Given the description of an element on the screen output the (x, y) to click on. 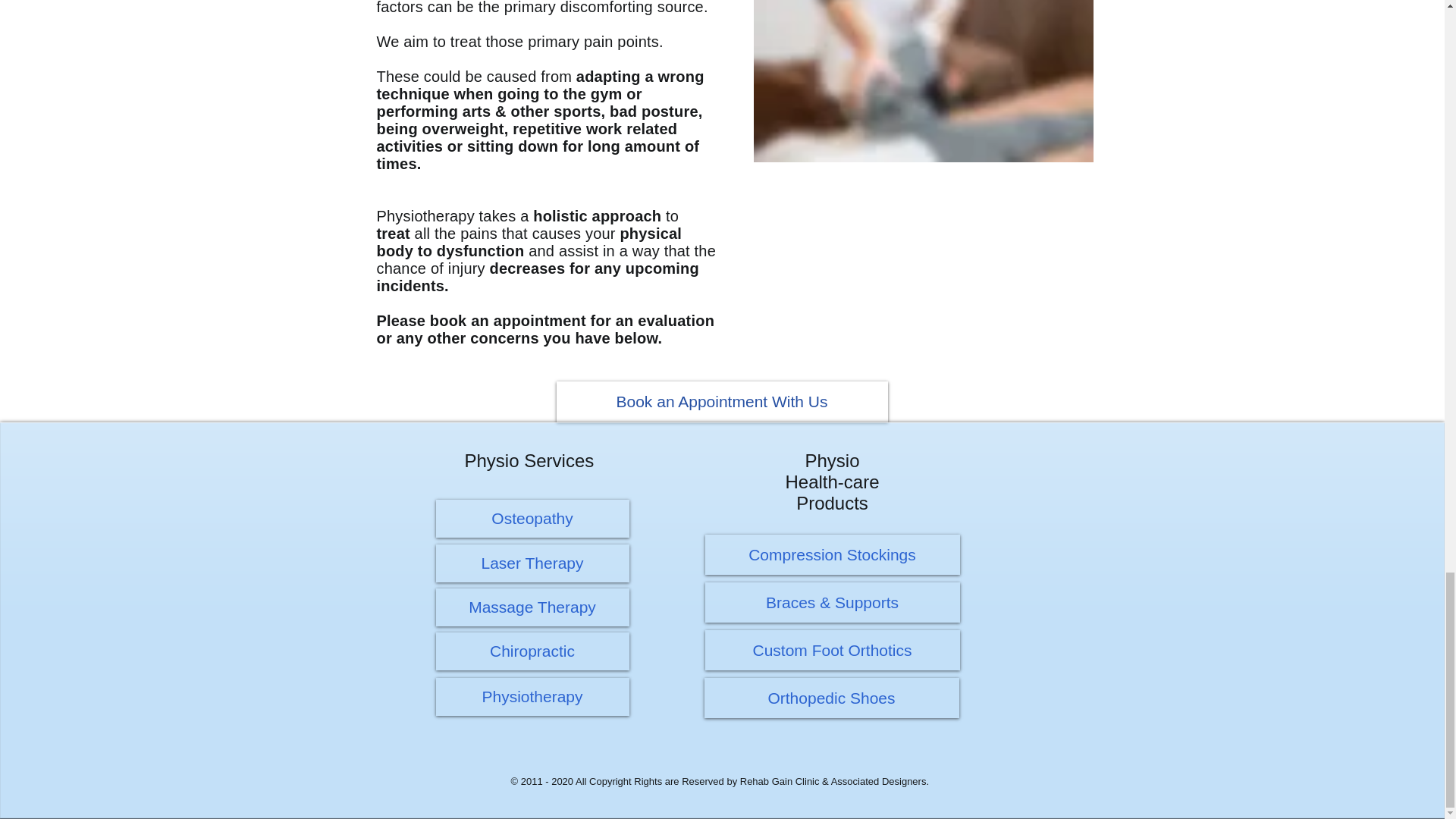
Laser Therapy (531, 563)
Book an Appointment With Us (722, 401)
Chiropractic (531, 651)
Orthopedic Shoes (830, 698)
Custom Foot Orthotics (831, 649)
Osteopathy (531, 518)
Compression Stockings (831, 554)
Physiotherapy (531, 696)
Massage Therapy (531, 607)
